Given the description of an element on the screen output the (x, y) to click on. 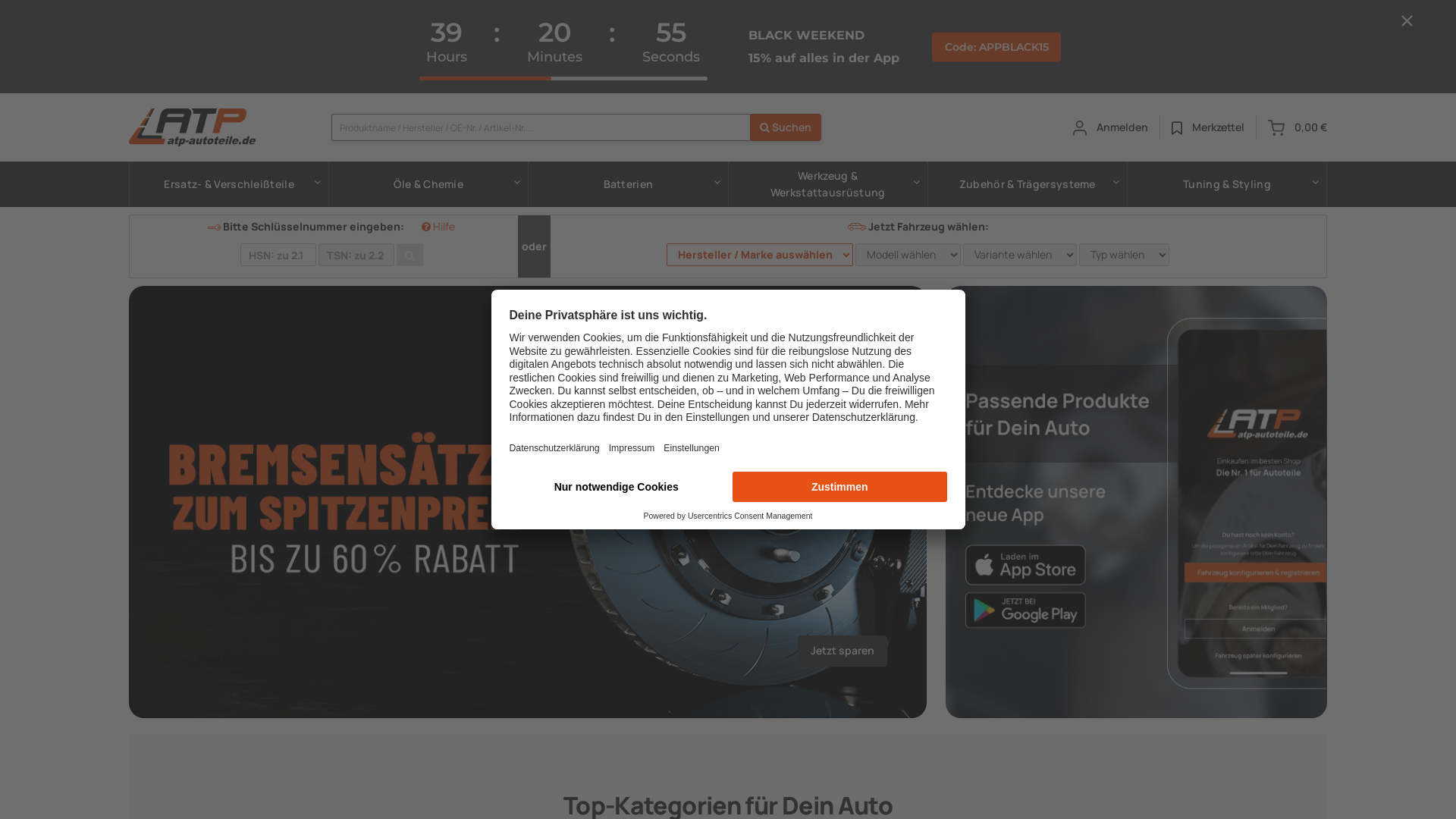
Hilfe Element type: text (438, 226)
Suchen Element type: text (785, 127)
ATP Autoteile Element type: hover (1176, 127)
ATP Autoteile Element type: hover (1275, 127)
Anmelden Element type: text (1110, 127)
Merkzettel Element type: text (1207, 126)
Tuning & Styling Element type: text (1226, 184)
Code: APPBLACK15 Element type: text (995, 46)
Batterien Element type: text (627, 184)
ATP Autoteile Element type: hover (1079, 127)
Jetzt sparen Element type: text (527, 500)
ATP Autoteile Element type: hover (191, 127)
